Given the description of an element on the screen output the (x, y) to click on. 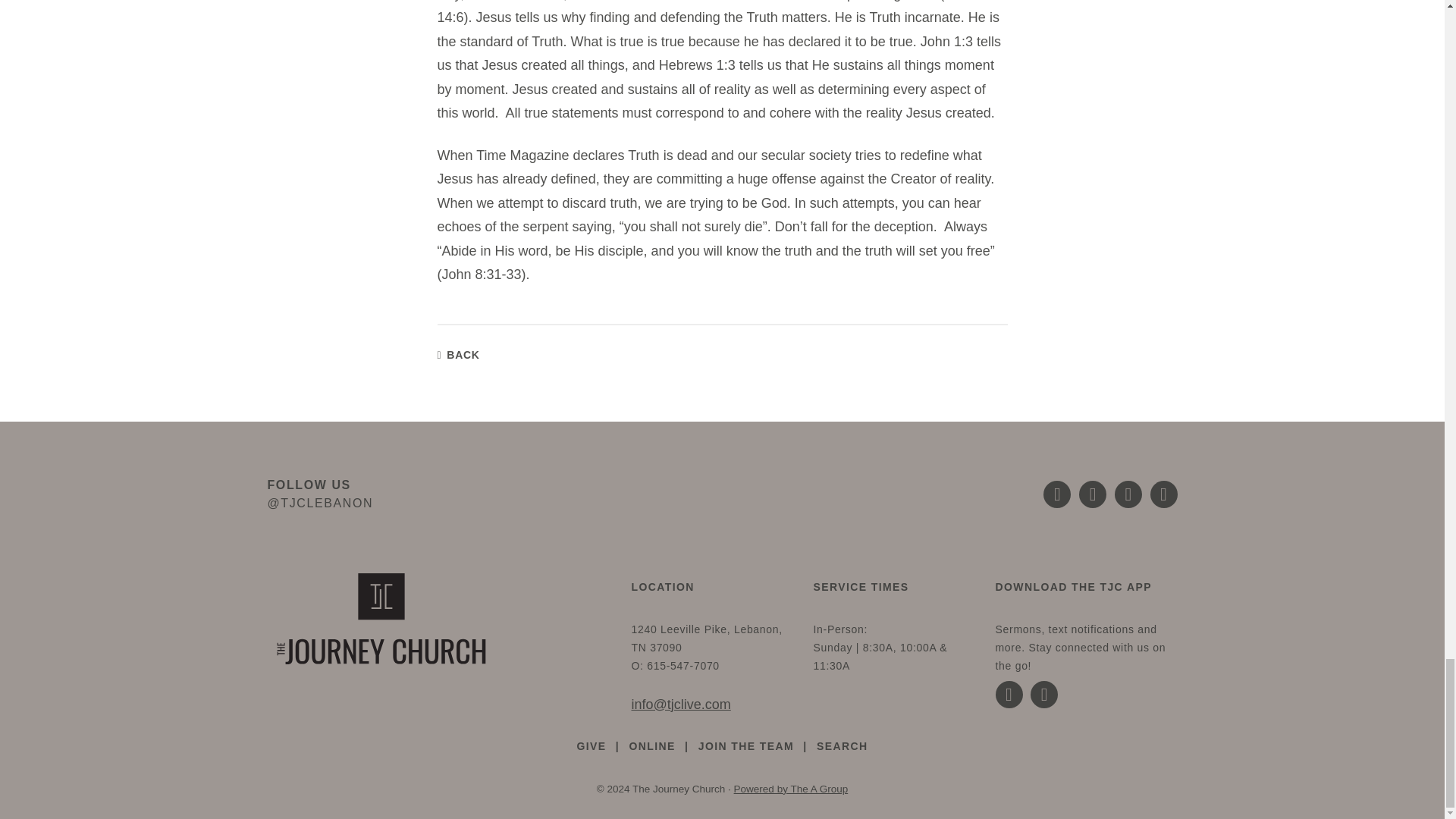
BACK (721, 355)
JOIN THE TEAM (745, 746)
Powered by The A Group (790, 788)
android (1044, 694)
GIVE (590, 746)
SEARCH (841, 746)
Instagram (1128, 493)
Twitter (1163, 493)
Facebook (1056, 493)
itunes (1008, 694)
